Given the description of an element on the screen output the (x, y) to click on. 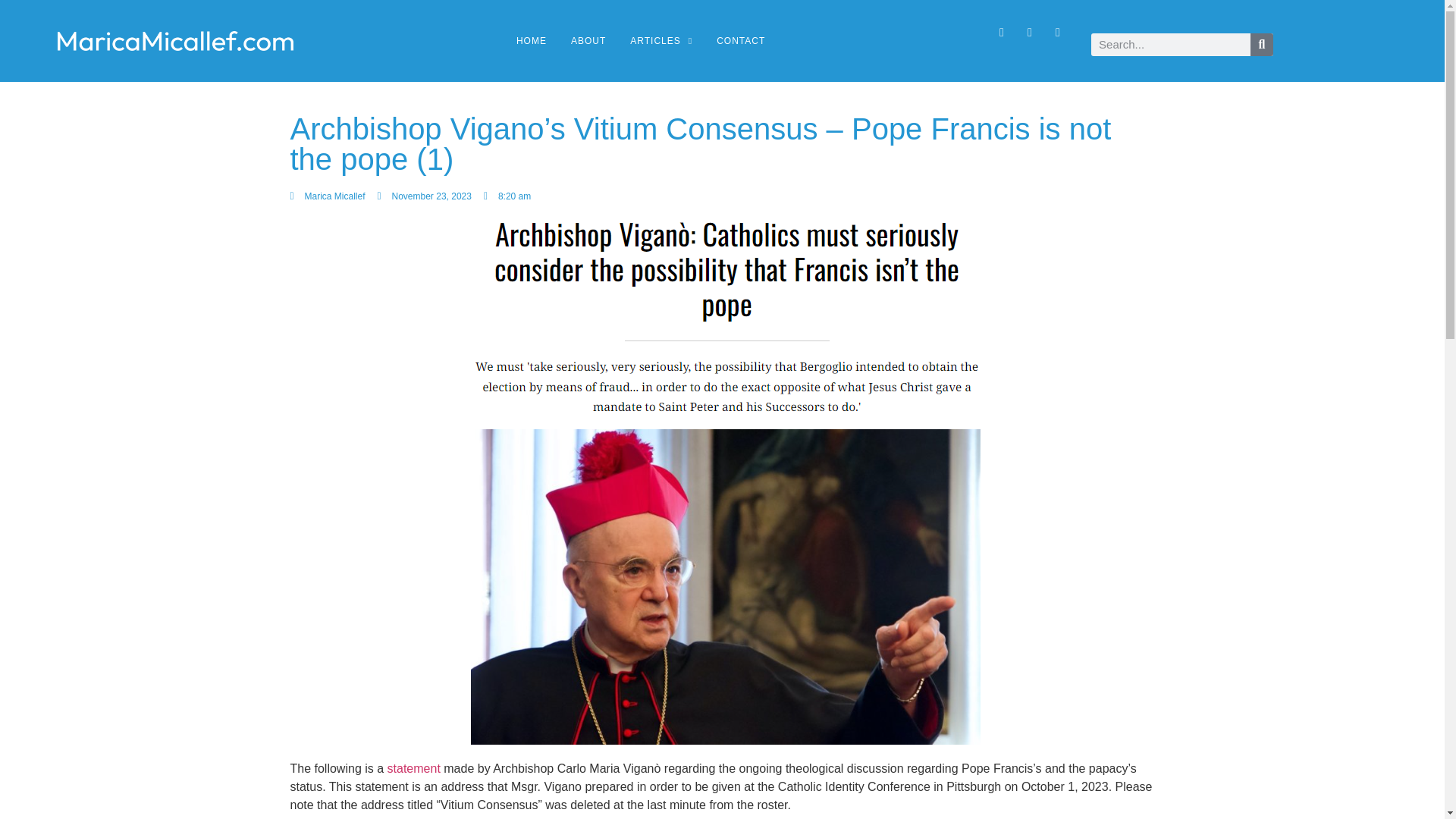
HOME (531, 40)
ARTICLES (661, 40)
CONTACT (740, 40)
ABOUT (587, 40)
